Given the description of an element on the screen output the (x, y) to click on. 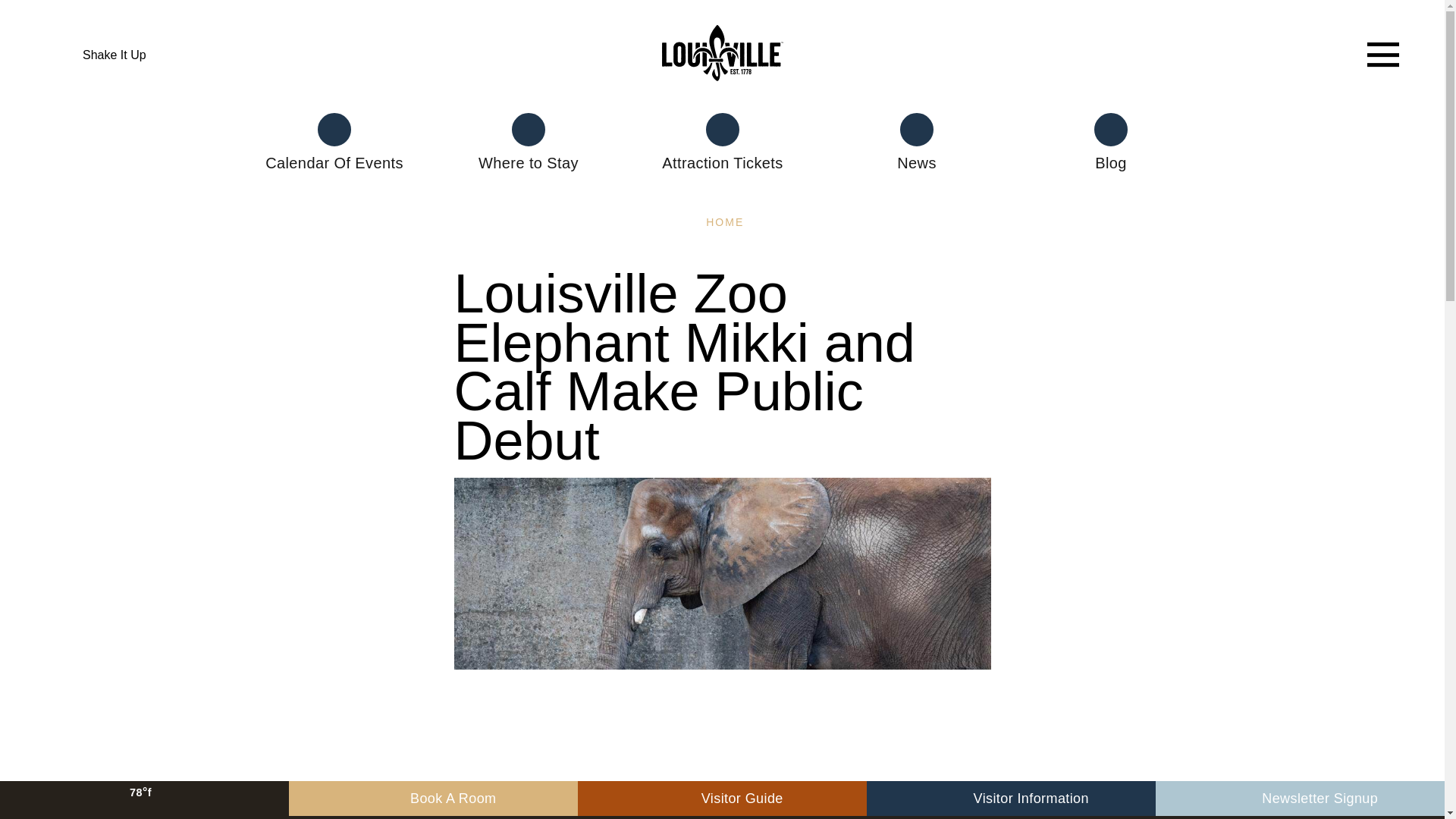
Skip to content (23, 31)
Shake It Up (100, 55)
